Given the description of an element on the screen output the (x, y) to click on. 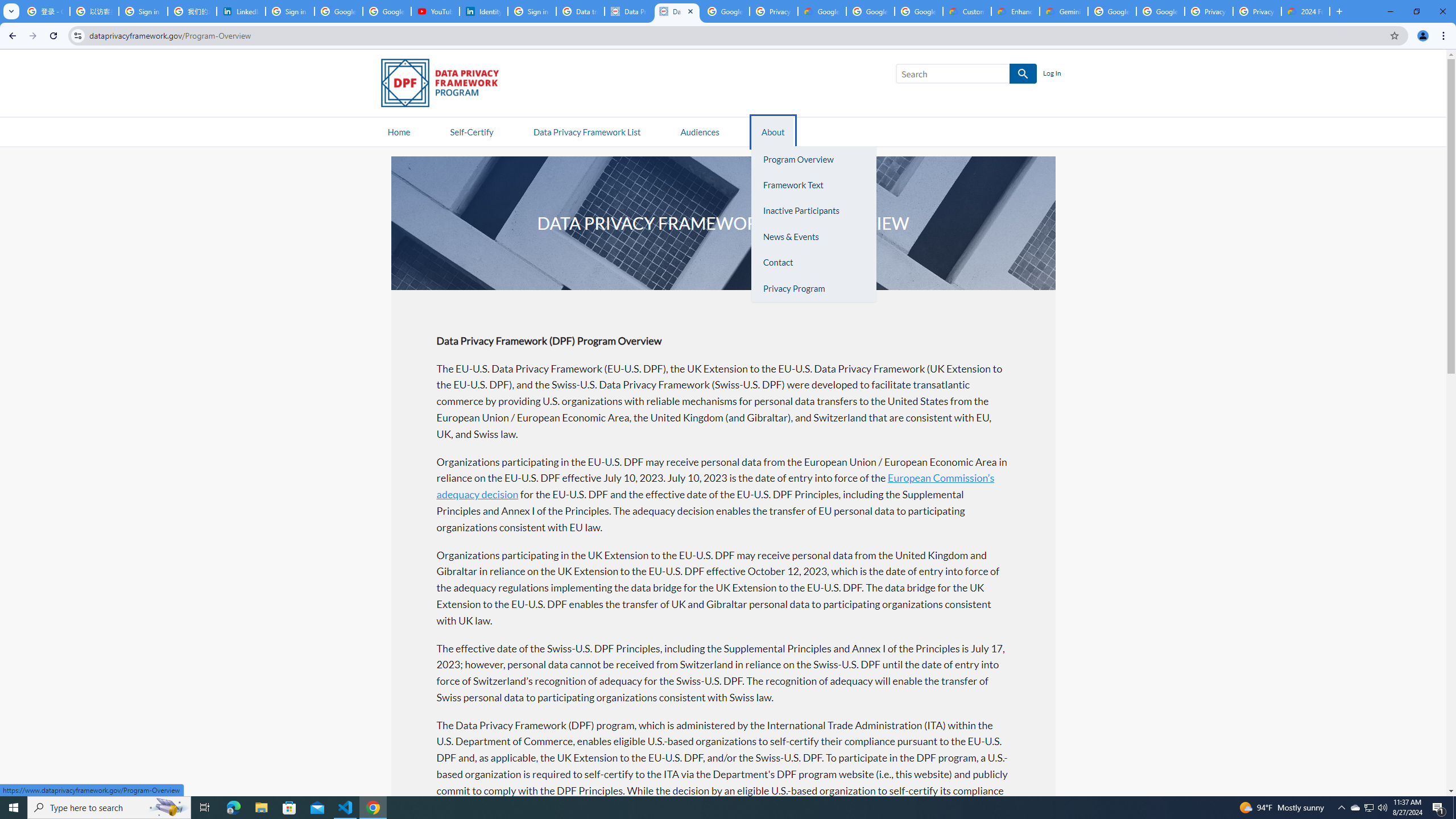
Sign in - Google Accounts (290, 11)
AutomationID: navitem (699, 131)
Google Cloud Platform (1160, 11)
Data Privacy Framework List (586, 131)
AutomationID: navitem2 (771, 131)
SEARCH (1022, 73)
